Given the description of an element on the screen output the (x, y) to click on. 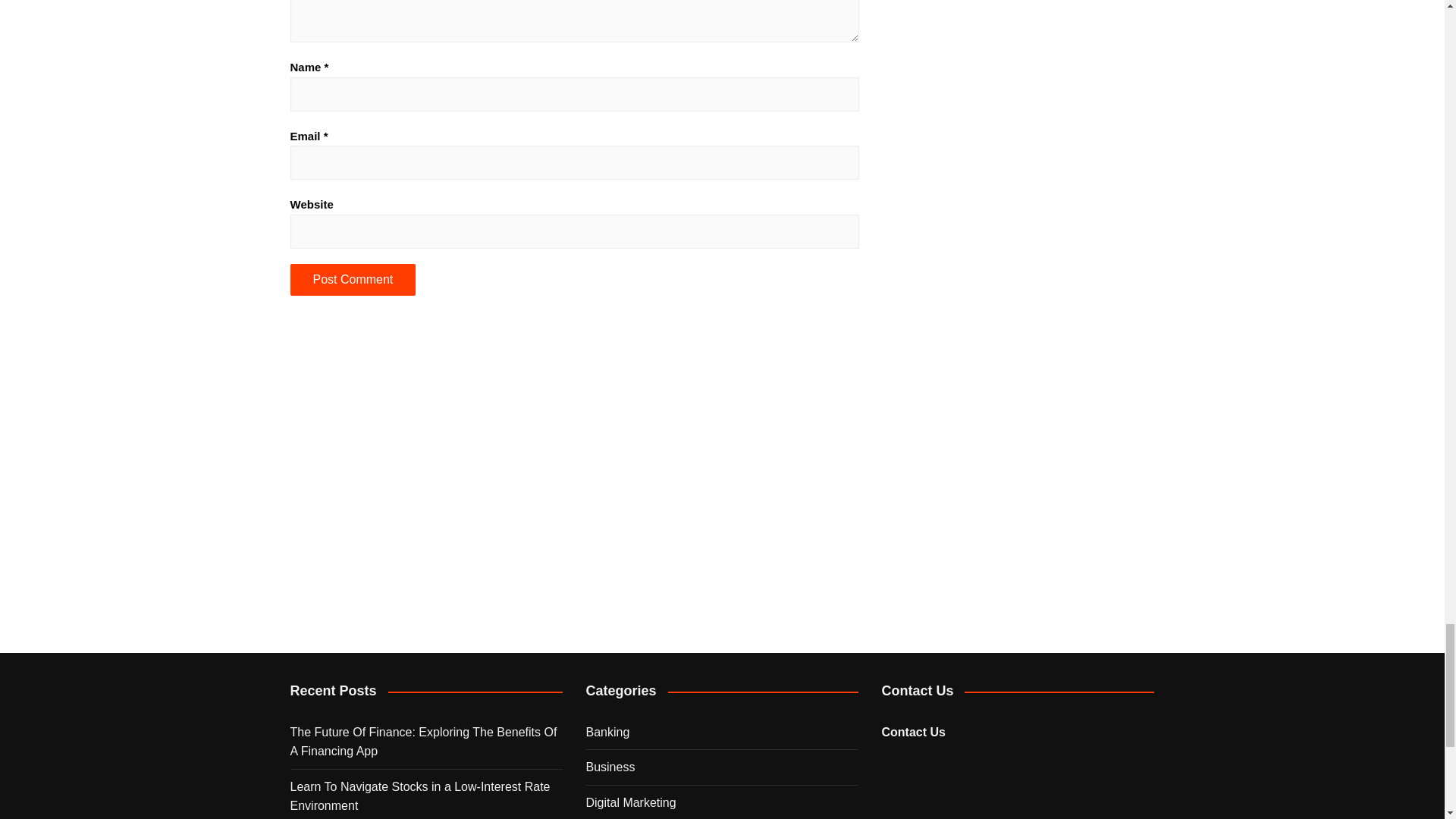
Post Comment (351, 279)
